Given the description of an element on the screen output the (x, y) to click on. 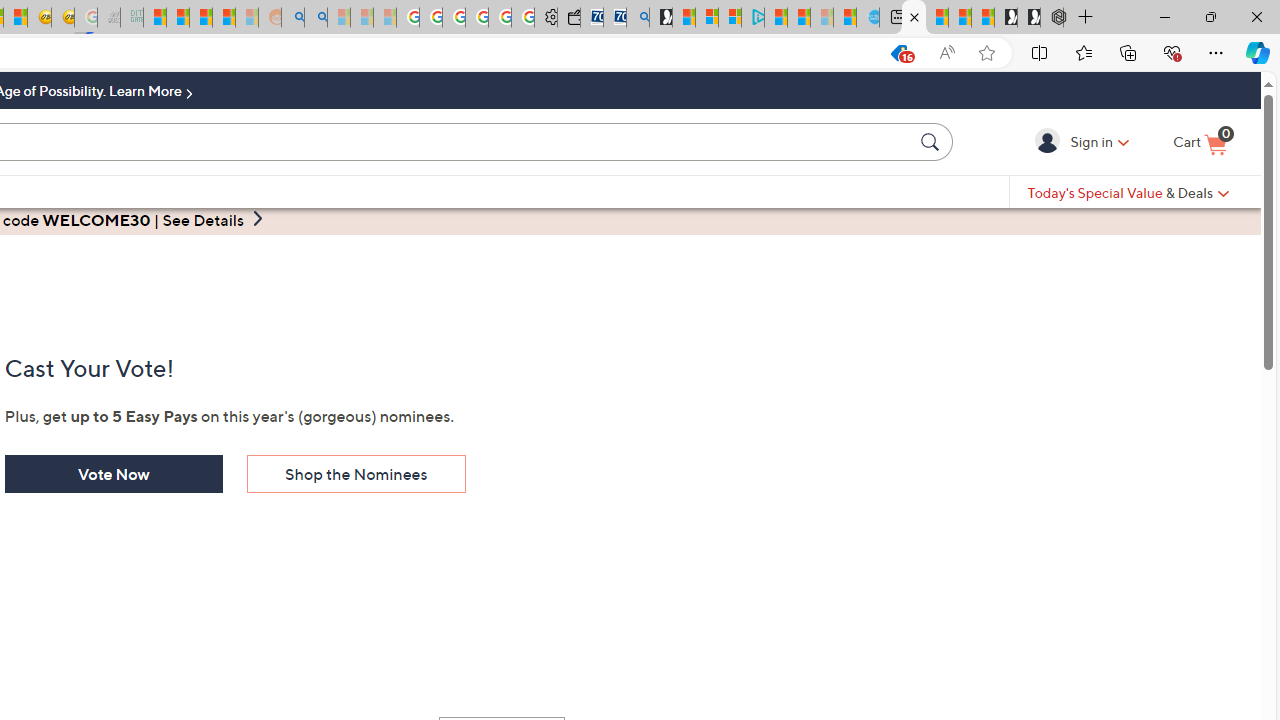
Utah sues federal government - Search (315, 17)
Cheap Car Rentals - Save70.com (614, 17)
Microsoft Start - Sleeping (822, 17)
Shop the Nominees (356, 474)
Today's Special Value & Deals (1128, 192)
Sign in (1049, 141)
Wallet (568, 17)
